Given the description of an element on the screen output the (x, y) to click on. 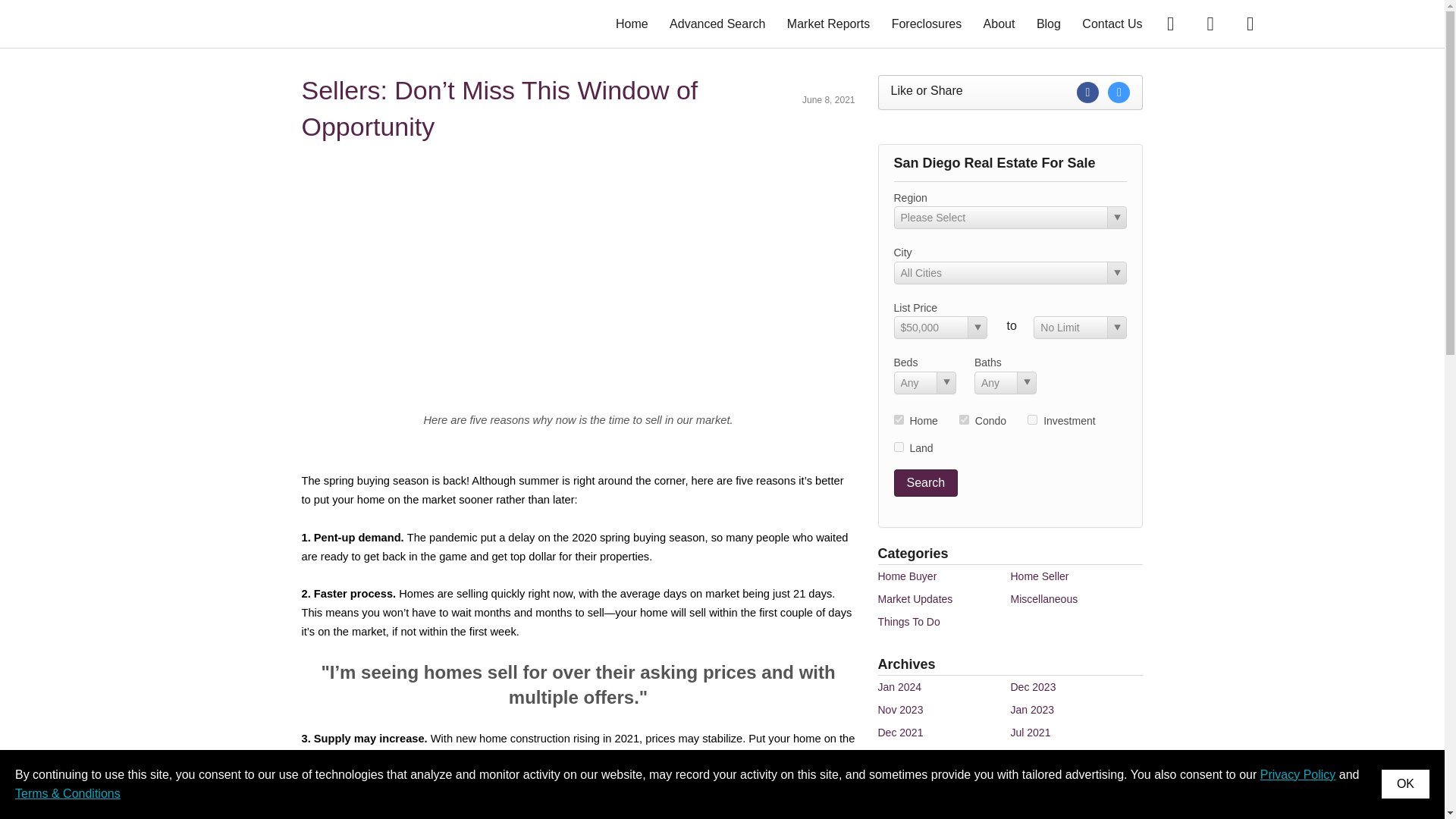
May 2021 (1033, 755)
Search (925, 482)
mul (1031, 419)
Jun 2021 (899, 755)
Home Buyer (907, 576)
Market Updates (915, 598)
Things To Do (908, 621)
Dec 2023 (1032, 686)
Blog (1048, 23)
Dec 2021 (900, 732)
Mar 2021 (1032, 777)
Nov 2023 (900, 709)
Like or Share (1009, 92)
Apr 2021 (899, 777)
Contact Us (1111, 23)
